Given the description of an element on the screen output the (x, y) to click on. 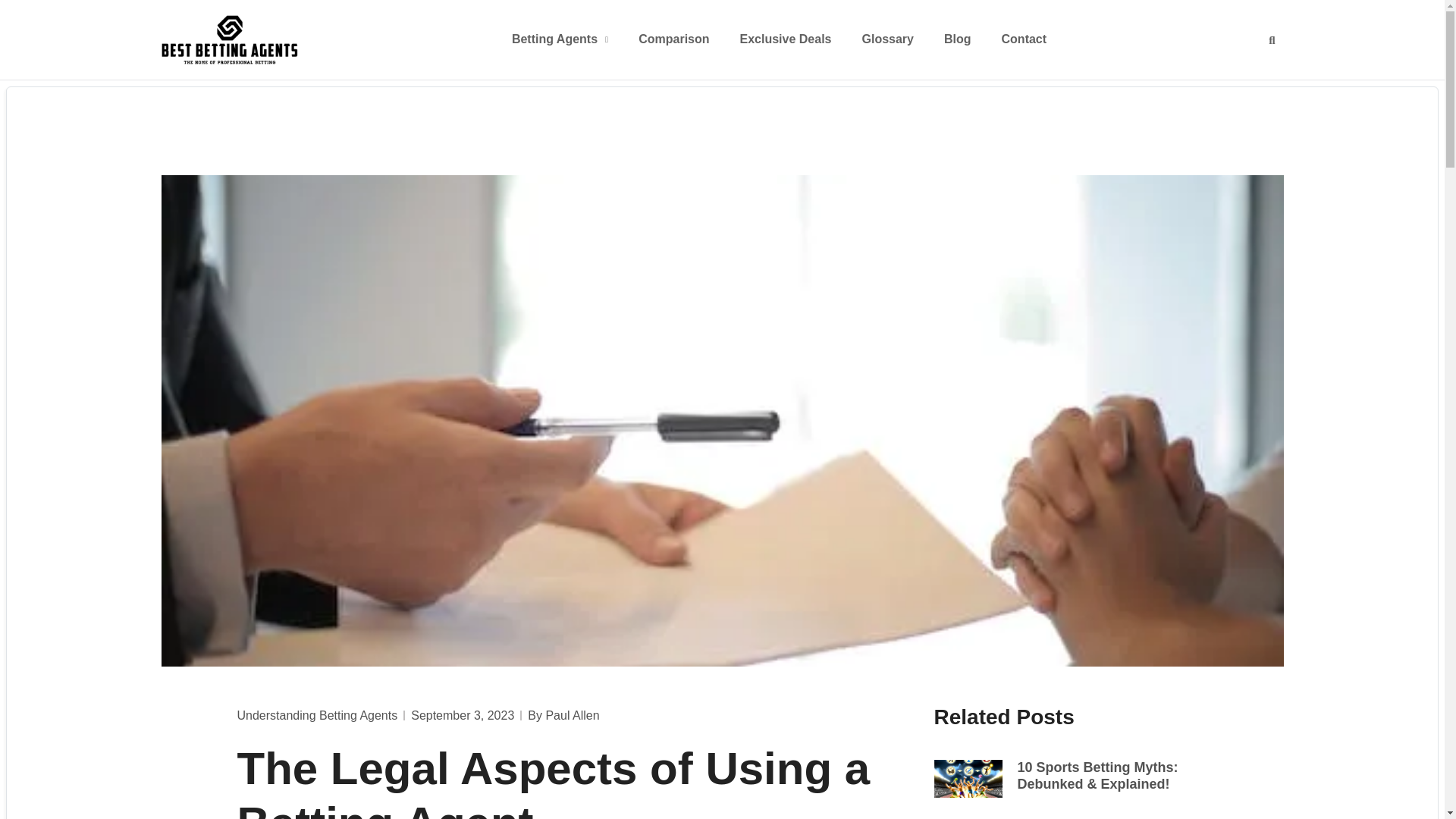
Betting Agents (560, 38)
Comparison (674, 38)
September 3, 2023 (461, 715)
Exclusive Deals (785, 38)
Glossary (886, 38)
Understanding Betting Agents (316, 715)
Blog (957, 38)
Contact (1023, 38)
